Given the description of an element on the screen output the (x, y) to click on. 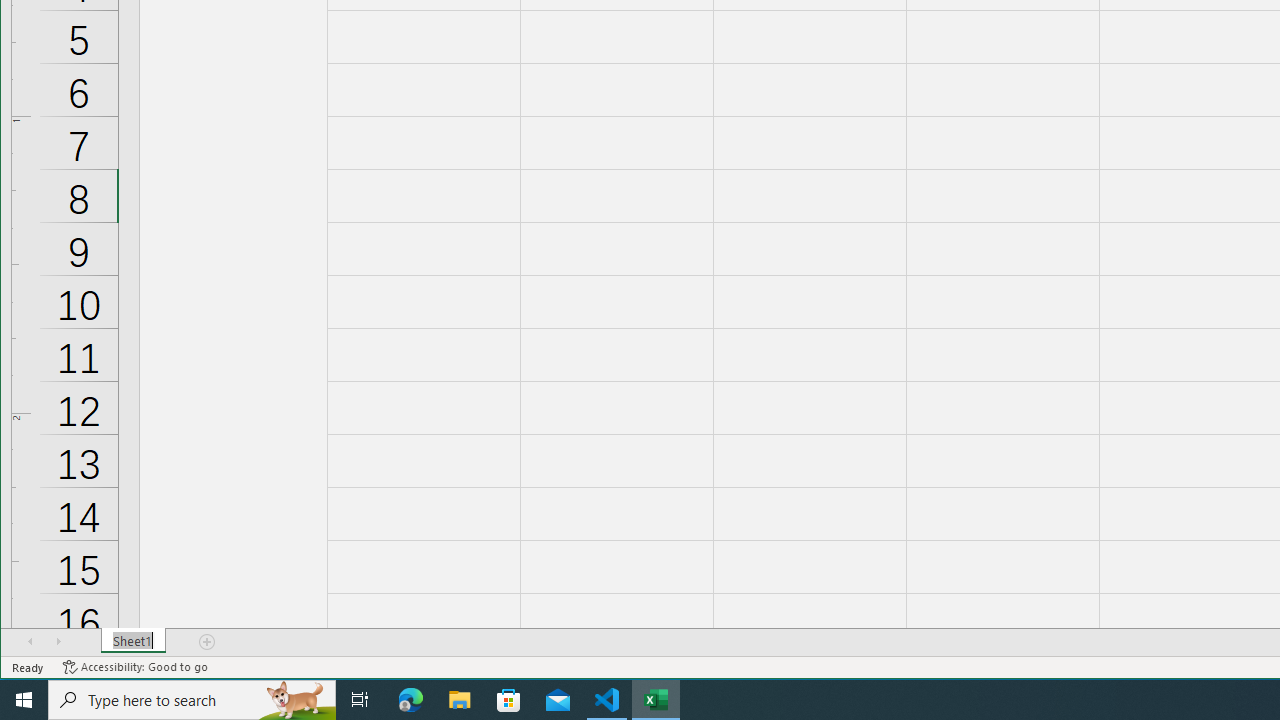
Visual Studio Code - 1 running window (607, 699)
Microsoft Edge (411, 699)
Search highlights icon opens search home window (295, 699)
Type here to search (191, 699)
Start (24, 699)
Task View (359, 699)
File Explorer (460, 699)
Microsoft Store (509, 699)
Excel - 1 running window (656, 699)
